Given the description of an element on the screen output the (x, y) to click on. 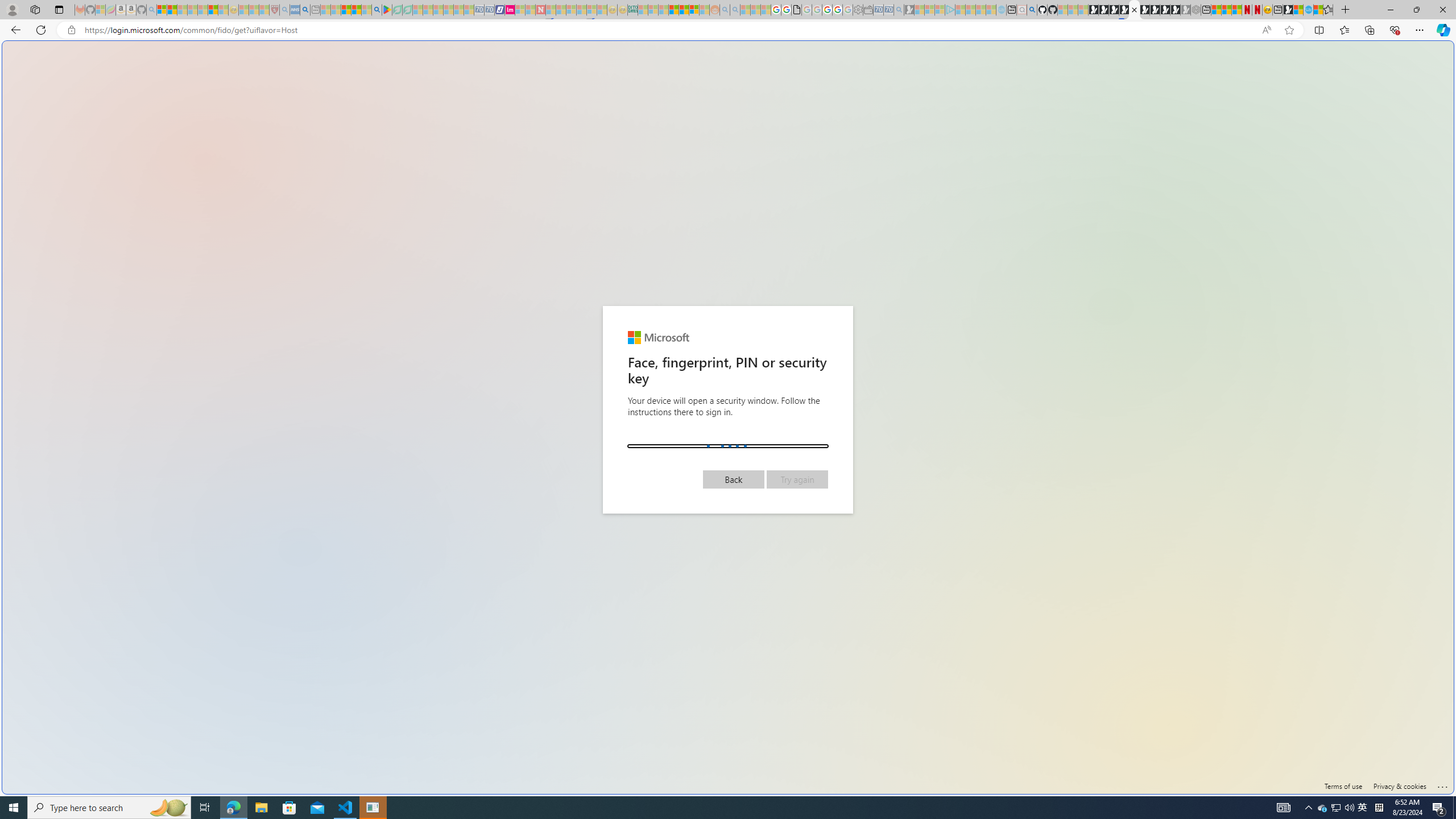
Utah sues federal government - Search - Sleeping (735, 9)
World - MSN (727, 389)
utah sues federal government - Search (304, 9)
Play Cave FRVR in your browser | Games from Microsoft Start (1113, 9)
Privacy & cookies (1399, 786)
google - Search (376, 9)
